Given the description of an element on the screen output the (x, y) to click on. 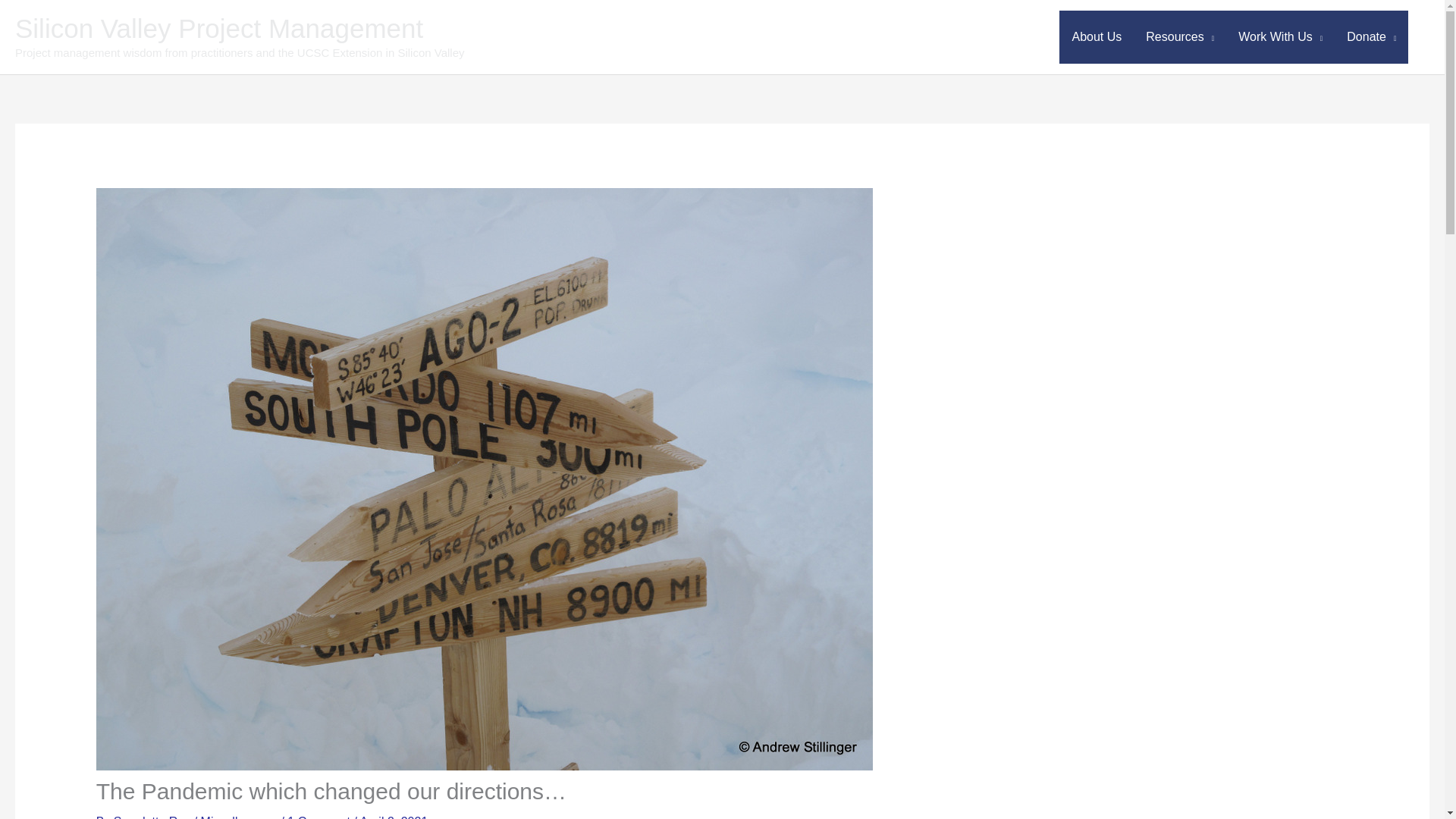
Miscellaneous (239, 816)
Work With Us (1280, 36)
Resources (1179, 36)
Donate (1371, 36)
View all posts by Somdutta Ray (153, 816)
Silicon Valley Project Management (218, 28)
1 Comment (318, 816)
About Us (1096, 36)
Somdutta Ray (153, 816)
